Given the description of an element on the screen output the (x, y) to click on. 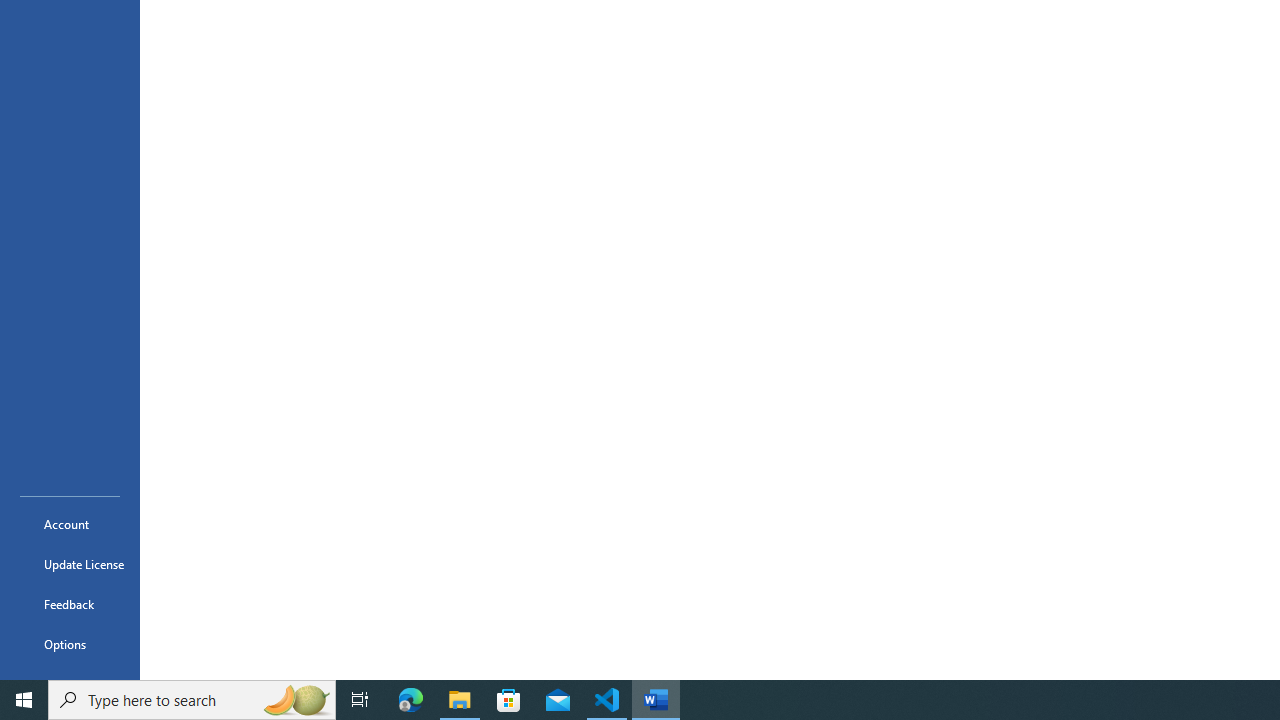
Update License (69, 563)
Options (69, 643)
Account (69, 523)
Feedback (69, 603)
